Given the description of an element on the screen output the (x, y) to click on. 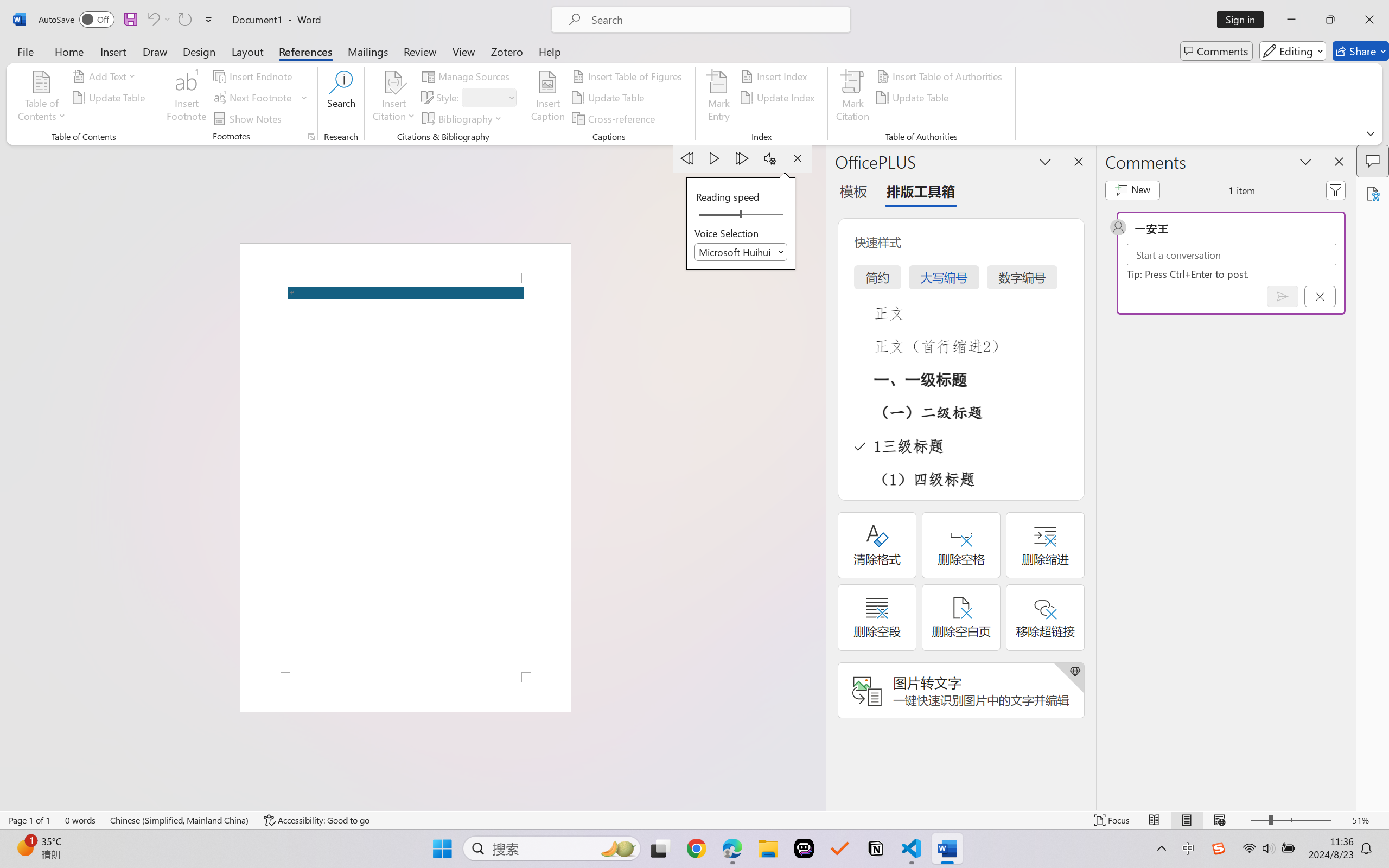
Table of Contents (42, 97)
Mark Entry... (718, 97)
Cancel (1320, 296)
Next Paragraph (743, 158)
Next Footnote (253, 97)
Update Table... (110, 97)
